Given the description of an element on the screen output the (x, y) to click on. 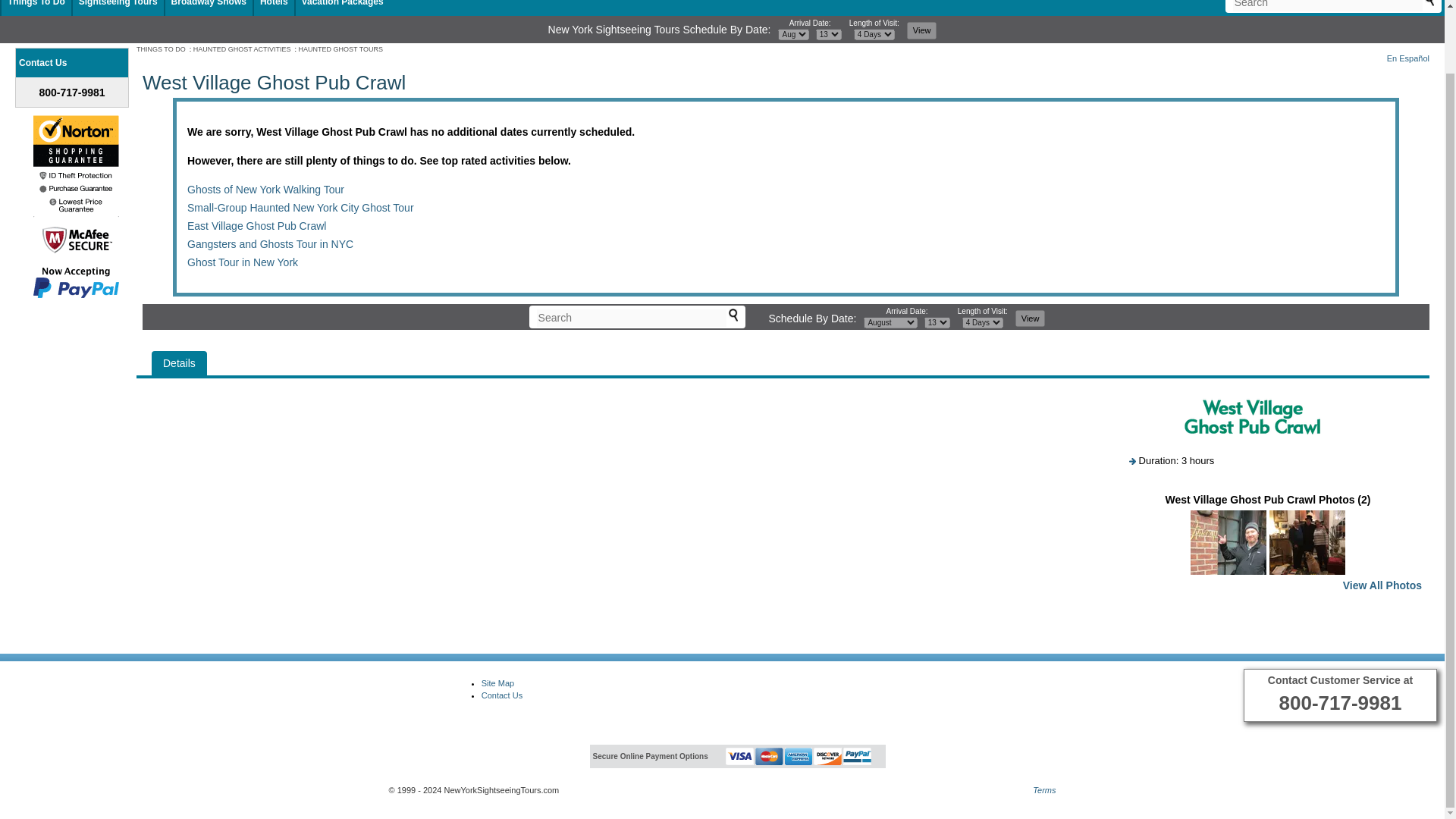
View (1029, 318)
East Village Ghost Pub Crawl (256, 224)
Vacation Packages (342, 3)
Things To Do (36, 3)
THINGS TO DO (161, 49)
Details (179, 363)
View (922, 30)
View (1029, 318)
HAUNTED GHOST TOURS (341, 49)
HAUNTED GHOST ACTIVITIES (242, 49)
